Given the description of an element on the screen output the (x, y) to click on. 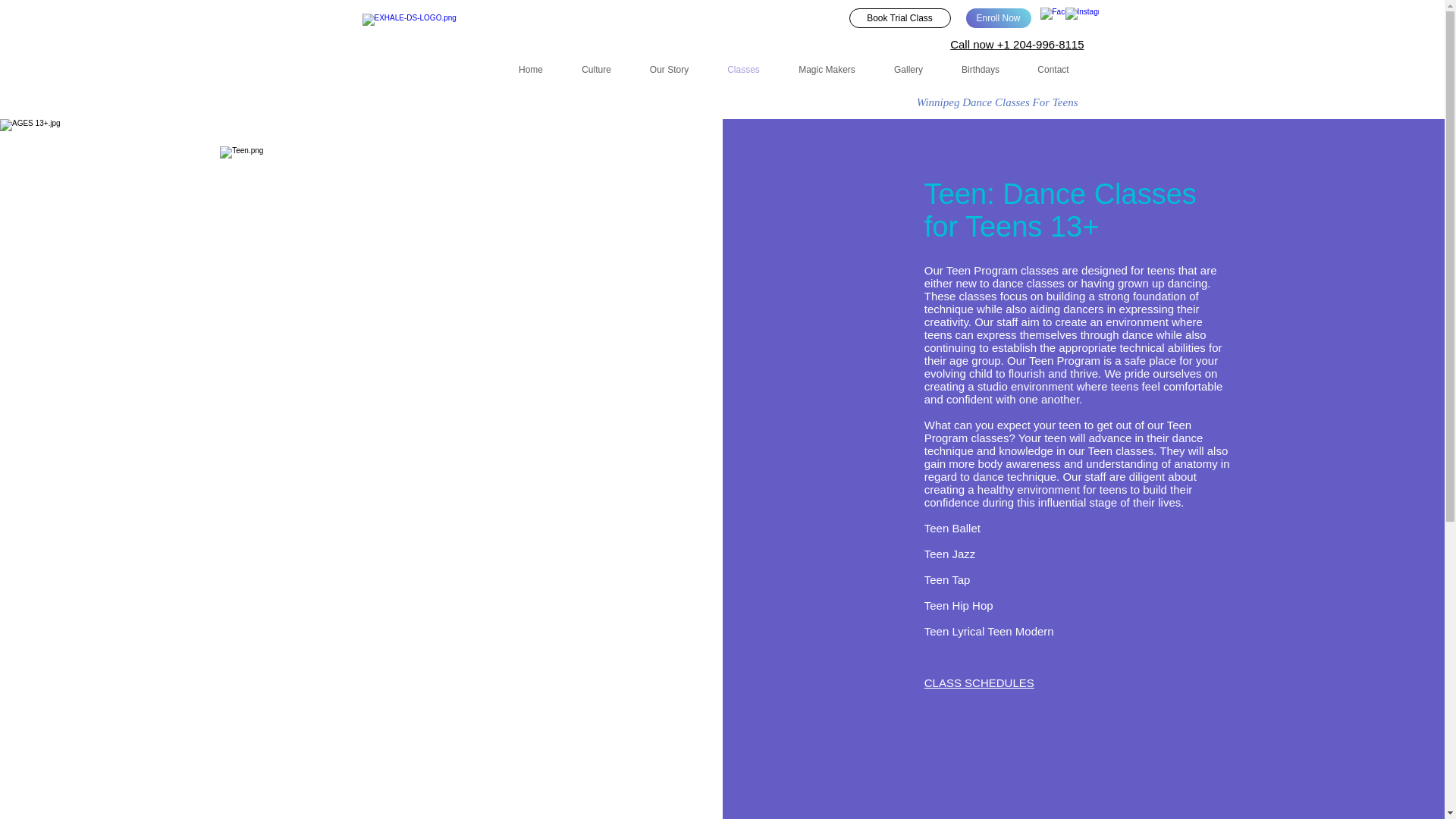
Gallery (908, 69)
Magic Makers (826, 69)
Culture (596, 69)
Classes (742, 69)
Enroll Now (998, 17)
Home (530, 69)
Contact (1053, 69)
Birthdays (979, 69)
Book Trial Class (899, 17)
Our Story (668, 69)
CLASS SCHEDULES (978, 682)
